Given the description of an element on the screen output the (x, y) to click on. 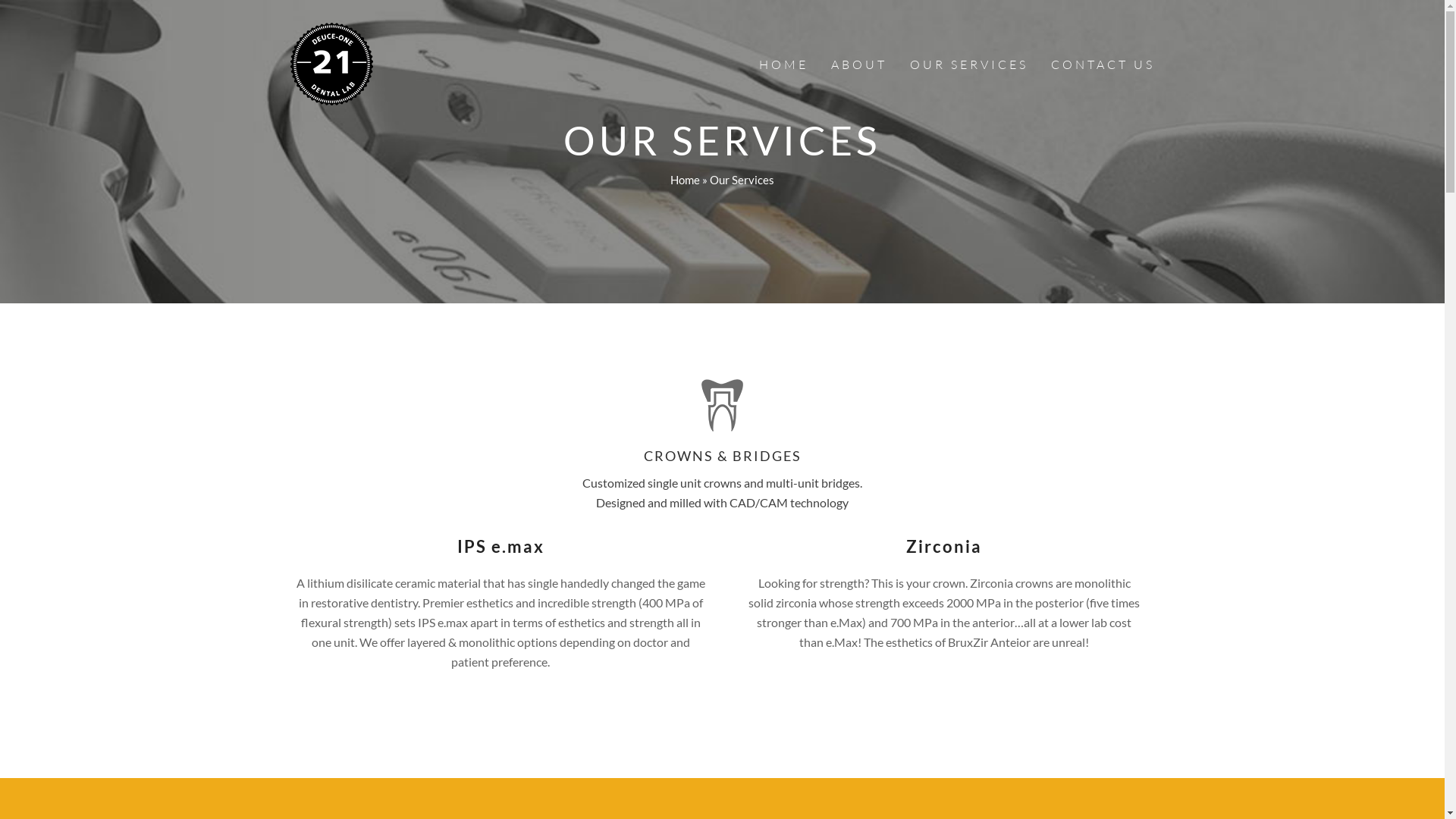
OUR SERVICES Element type: text (967, 64)
HOME Element type: text (783, 64)
ABOUT Element type: text (858, 64)
Home Element type: text (684, 179)
CONTACT US Element type: text (1101, 64)
